Given the description of an element on the screen output the (x, y) to click on. 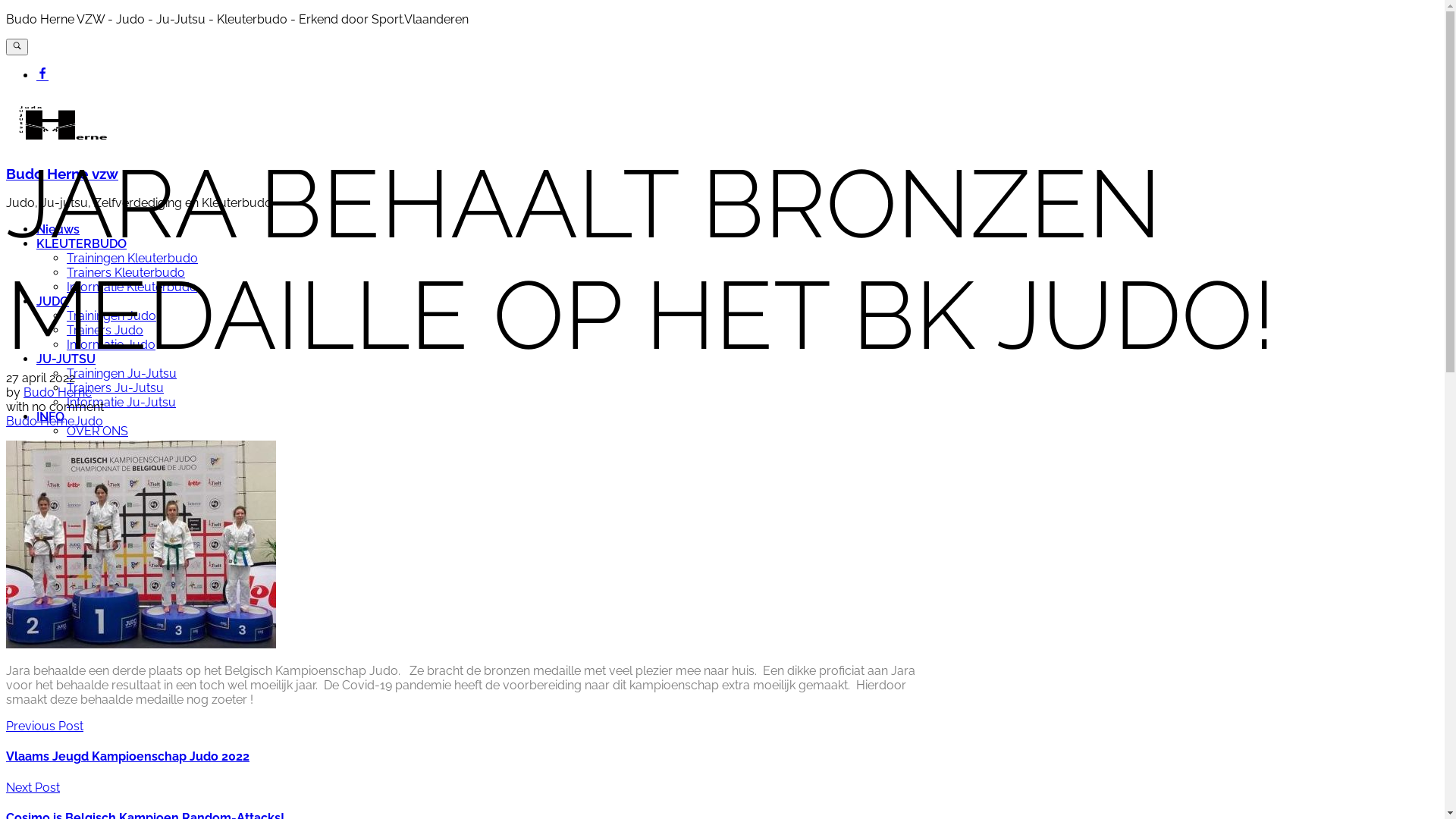
Trainers Judo Element type: text (104, 330)
Informatie Ju-Jutsu Element type: text (120, 402)
Budo Herne Element type: text (57, 392)
Budo Herne vzw Element type: text (62, 173)
KLEUTERBUDO Element type: text (81, 243)
Budo Herne Element type: text (40, 421)
CONTACT Element type: text (65, 459)
Login Element type: text (52, 474)
Trainingen Ju-Jutsu Element type: text (121, 373)
Previous Post
Vlaams Jeugd Kampioenschap Judo 2022 Element type: text (722, 740)
INFO Element type: text (50, 416)
AGENDA Element type: text (61, 445)
Trainers Kleuterbudo Element type: text (125, 272)
JU-JUTSU Element type: text (65, 358)
Trainingen Judo Element type: text (111, 315)
Nieuws Element type: text (57, 229)
Trainingen Kleuterbudo Element type: text (131, 258)
OVER ONS Element type: text (97, 430)
JUDO Element type: text (52, 301)
Informatie Judo Element type: text (110, 344)
Informatie Kleuterbudo Element type: text (131, 286)
Trainers Ju-Jutsu Element type: text (114, 387)
Judo Element type: text (88, 421)
